Given the description of an element on the screen output the (x, y) to click on. 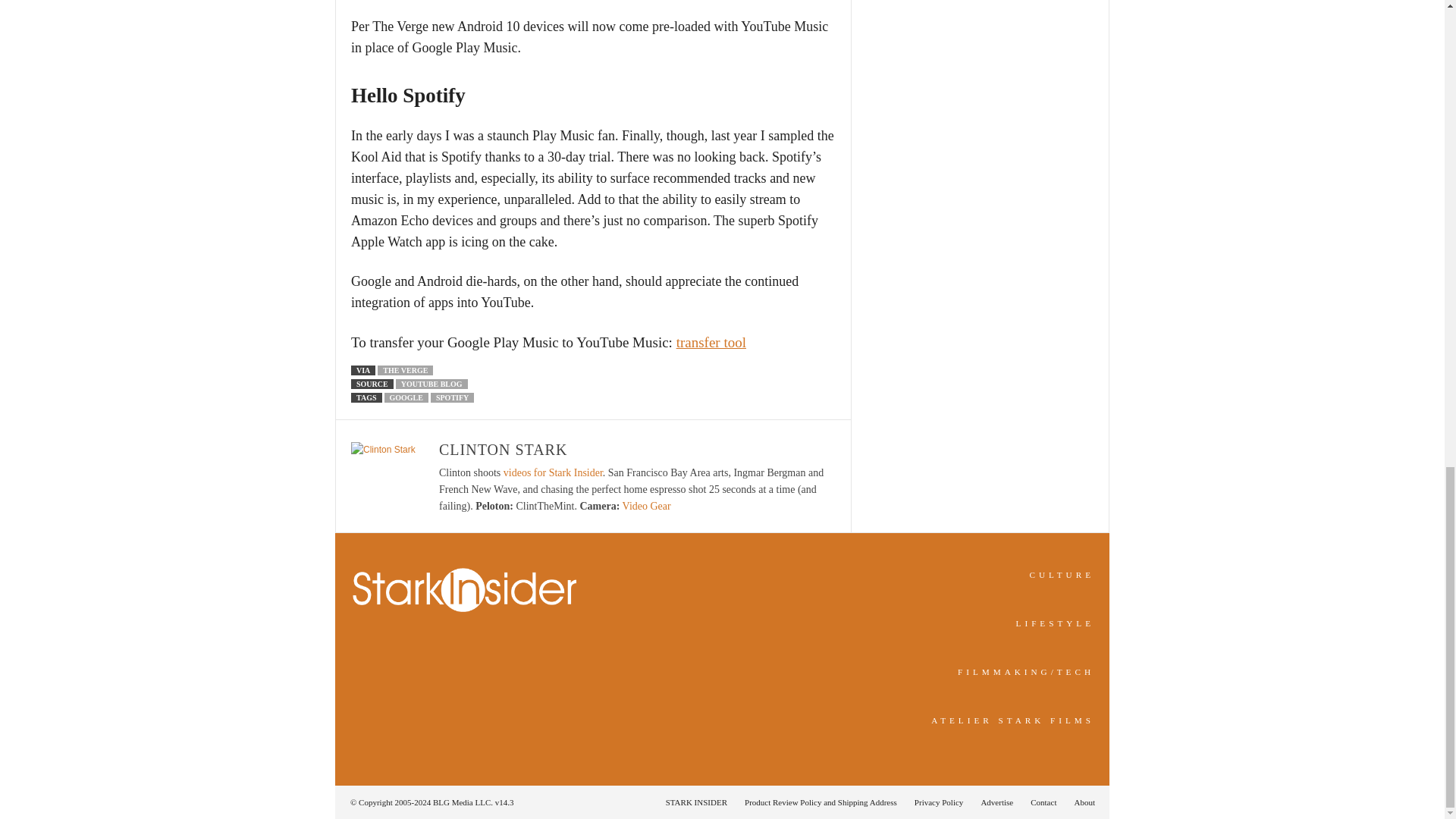
Video Gear (647, 505)
CLINTON STARK (503, 449)
STARK INSIDER (696, 801)
Privacy Policy (939, 801)
THE VERGE (404, 370)
CULTURE (1061, 574)
transfer tool (711, 342)
Advertise (996, 801)
SPOTIFY (452, 397)
YOUTUBE BLOG (431, 384)
About (1079, 801)
GOOGLE (406, 397)
Contact (1043, 801)
Indie film, music, arts in San Francisco and Silicon Valley (1061, 574)
Product Review Policy and Shipping Address (820, 801)
